Given the description of an element on the screen output the (x, y) to click on. 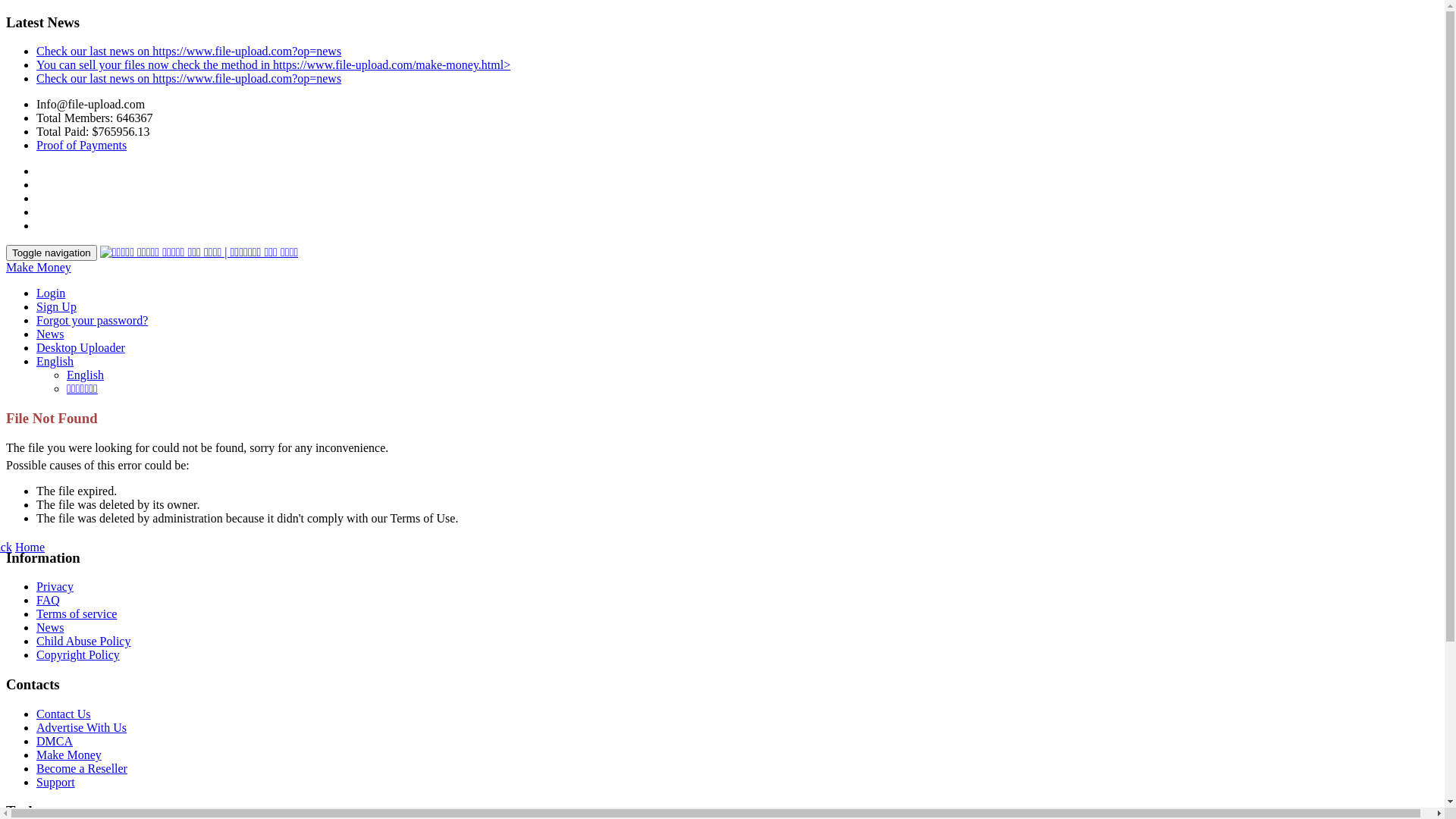
Toggle navigation Element type: text (51, 252)
Proof of Payments Element type: text (81, 144)
DMCA Element type: text (54, 740)
Copyright Policy Element type: text (77, 654)
Terms of service Element type: text (76, 613)
Make Money Element type: text (38, 266)
News Element type: text (49, 627)
Desktop Uploader Element type: text (80, 347)
English Element type: text (54, 360)
Login Element type: text (50, 292)
News Element type: text (49, 333)
Advertise With Us Element type: text (81, 727)
Forgot your password? Element type: text (91, 319)
Contact Us Element type: text (63, 713)
FAQ Element type: text (47, 599)
English Element type: text (84, 374)
Home Element type: text (29, 546)
Check our last news on https://www.file-upload.com?op=news Element type: text (188, 78)
Become a Reseller Element type: text (81, 768)
Make Money Element type: text (68, 754)
Sign Up Element type: text (56, 306)
Child Abuse Policy Element type: text (83, 640)
Privacy Element type: text (54, 586)
Support Element type: text (55, 781)
Check our last news on https://www.file-upload.com?op=news Element type: text (188, 50)
